Given the description of an element on the screen output the (x, y) to click on. 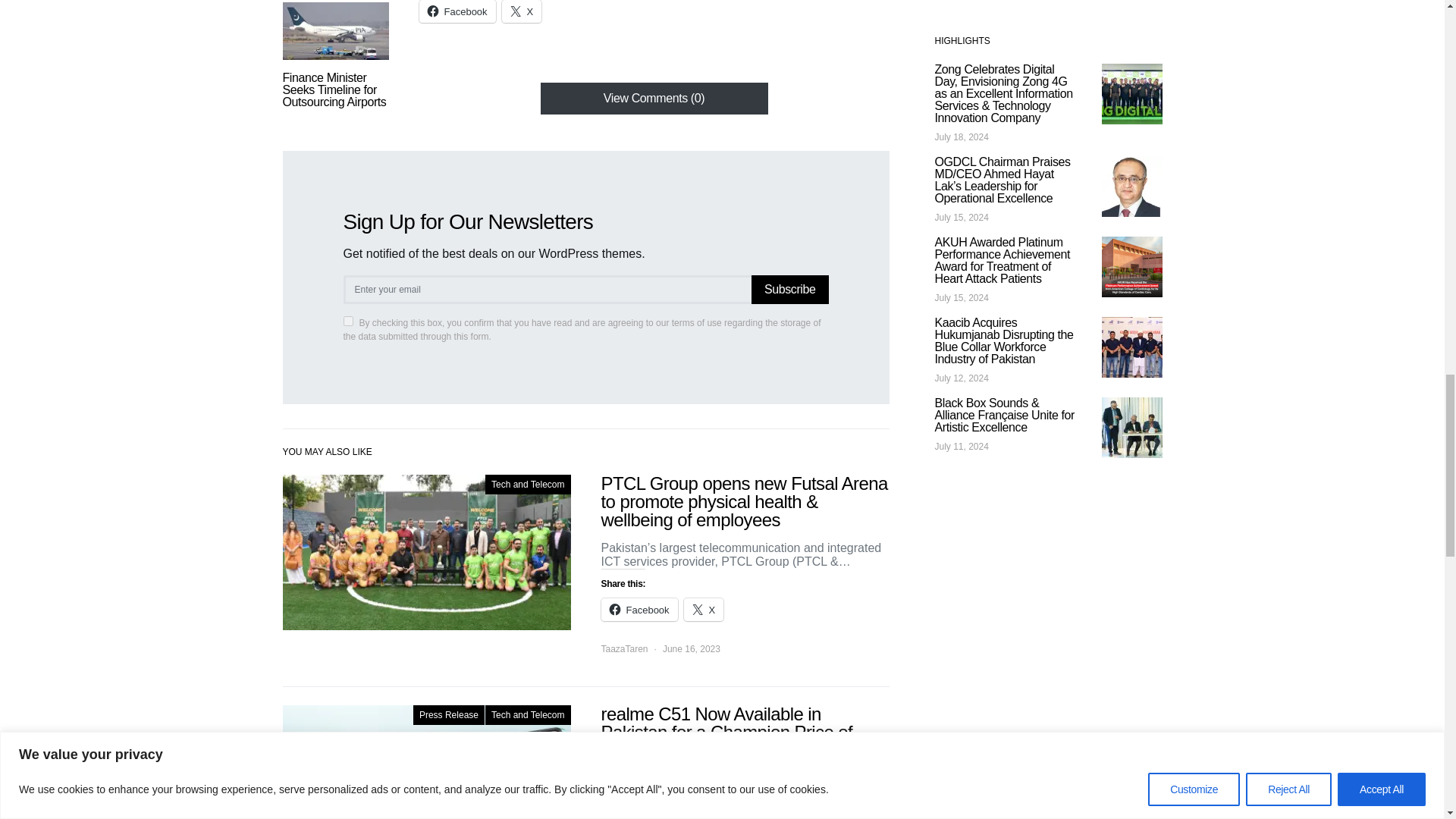
Click to share on Facebook (638, 609)
Click to share on X (521, 11)
Click to share on X (703, 609)
Click to share on Facebook (457, 11)
View all posts by TaazaTaren (623, 649)
on (347, 320)
